Given the description of an element on the screen output the (x, y) to click on. 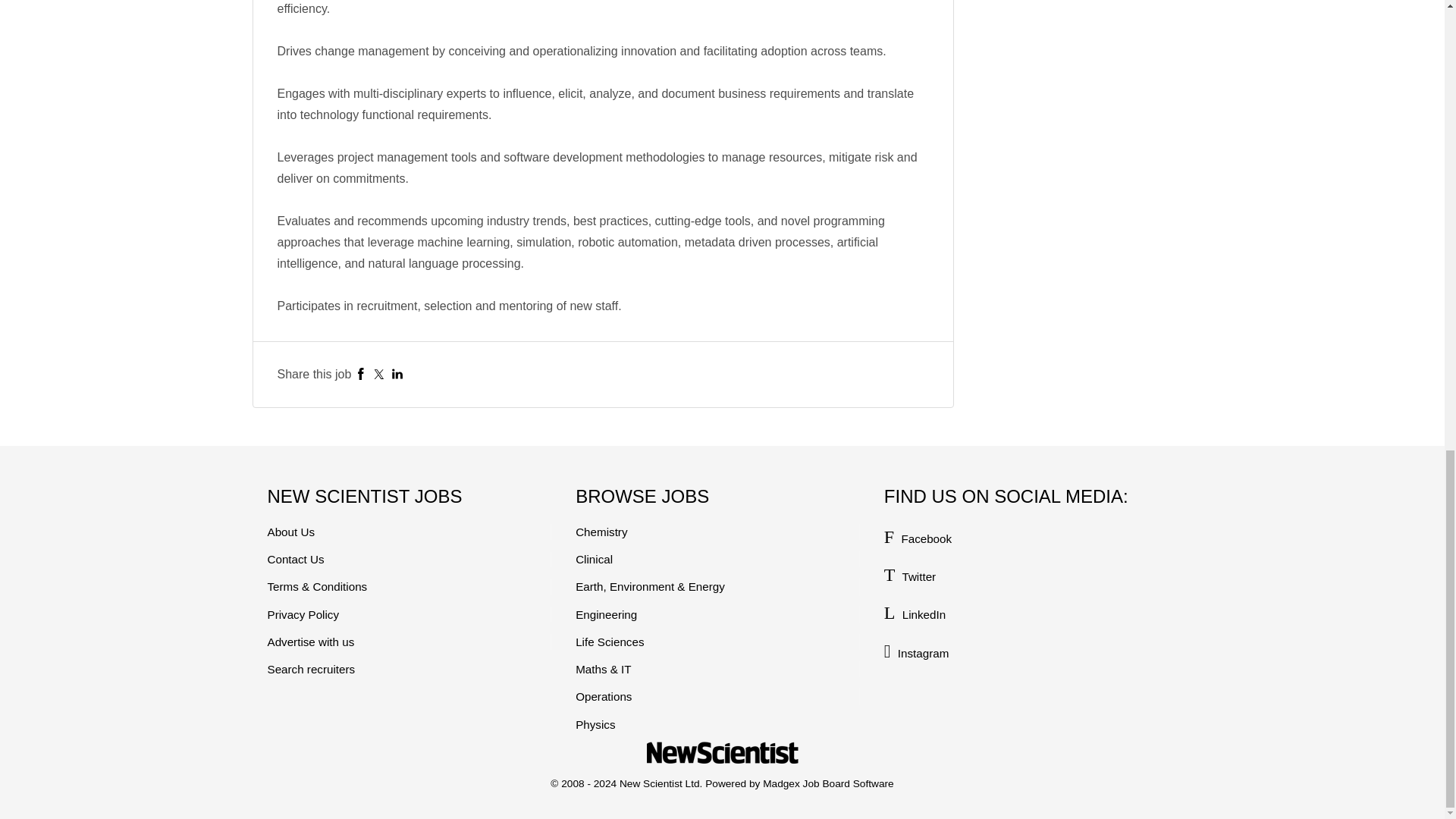
Twitter (378, 373)
LinkedIn (397, 373)
Facebook (360, 373)
